Given the description of an element on the screen output the (x, y) to click on. 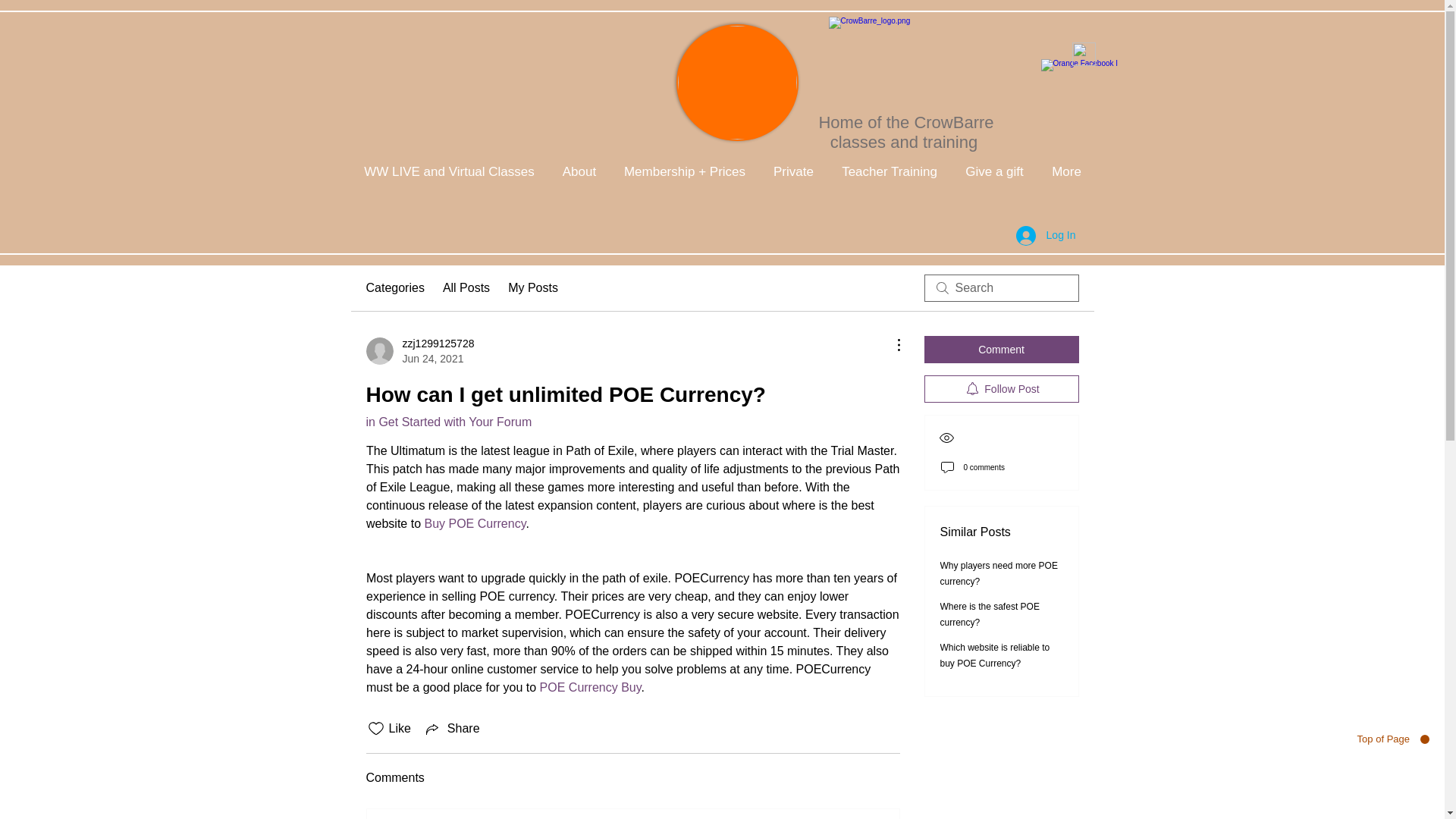
Write a comment... (632, 814)
Log In (1046, 235)
Give a gift (993, 171)
WW LIVE and Virtual Classes (449, 171)
Home of the CrowBarre classes and training  (905, 132)
Why players need more POE currency? (999, 573)
Share (451, 728)
Follow Post (1000, 388)
in Get Started with Your Forum (448, 421)
Which website is reliable to buy POE Currency? (994, 655)
